Given the description of an element on the screen output the (x, y) to click on. 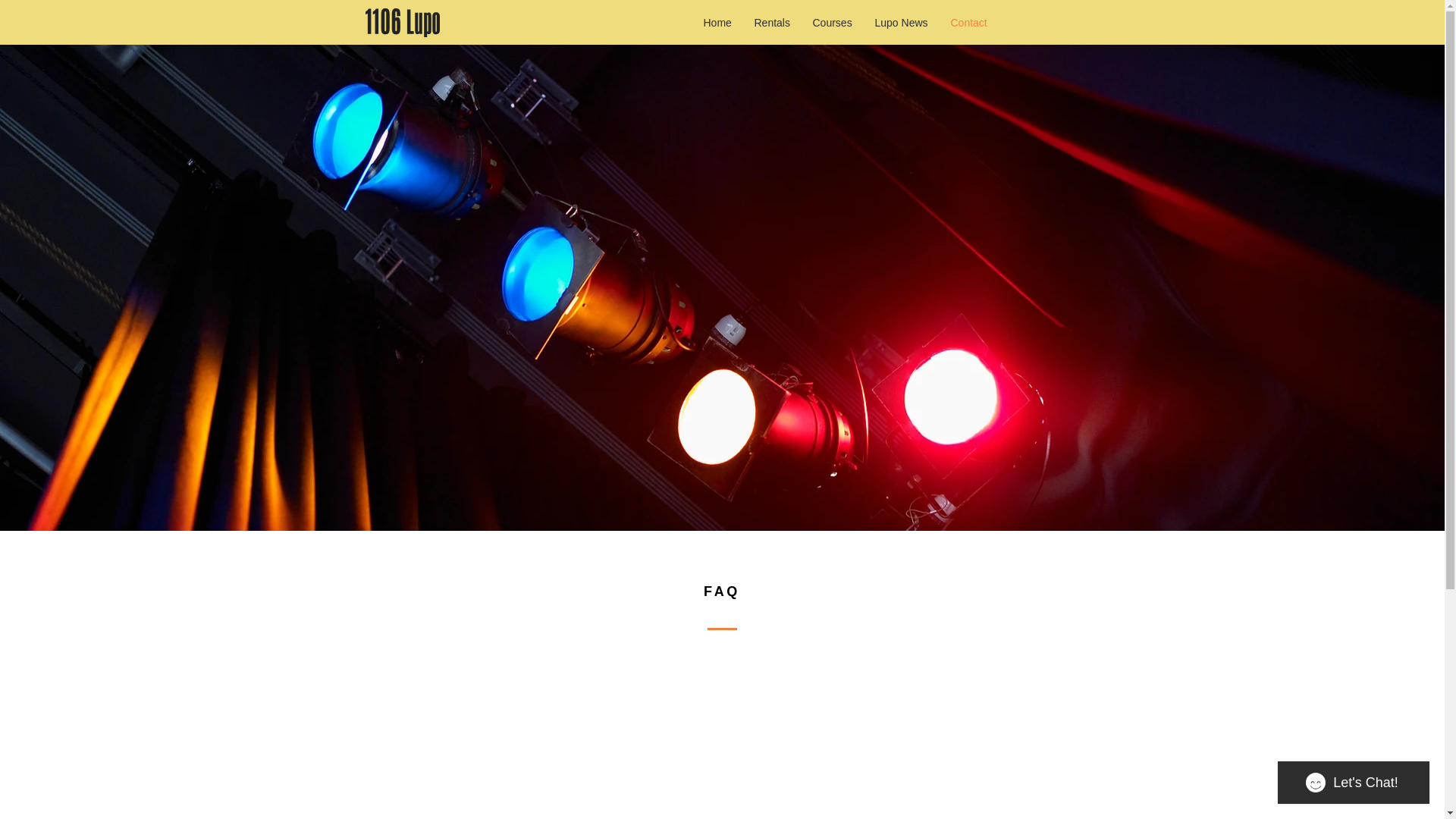
Courses Element type: text (831, 22)
Rentals Element type: text (772, 22)
Home Element type: text (716, 22)
Contact Element type: text (967, 22)
Lupo News Element type: text (900, 22)
